Given the description of an element on the screen output the (x, y) to click on. 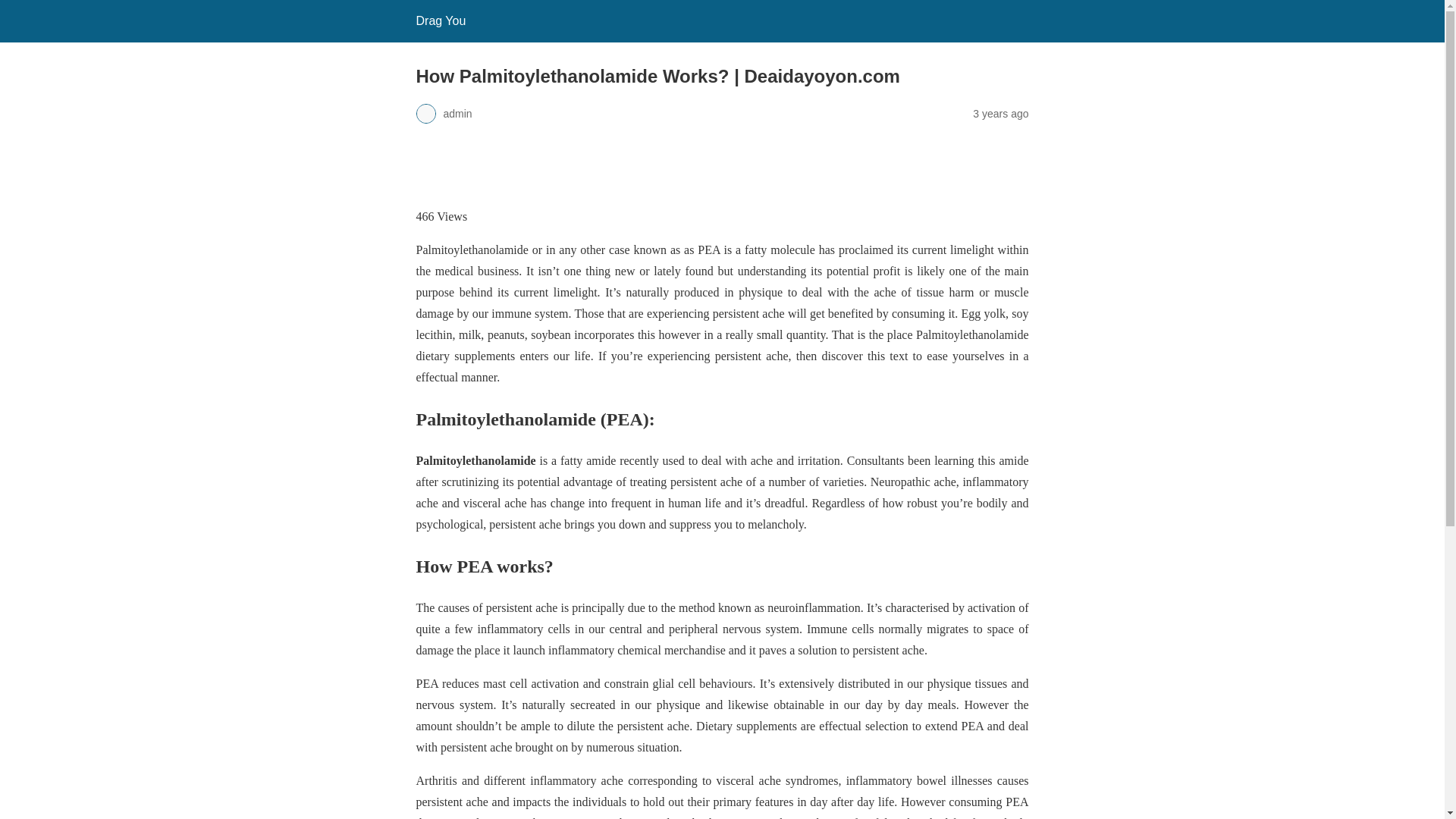
Drag You (439, 20)
